Given the description of an element on the screen output the (x, y) to click on. 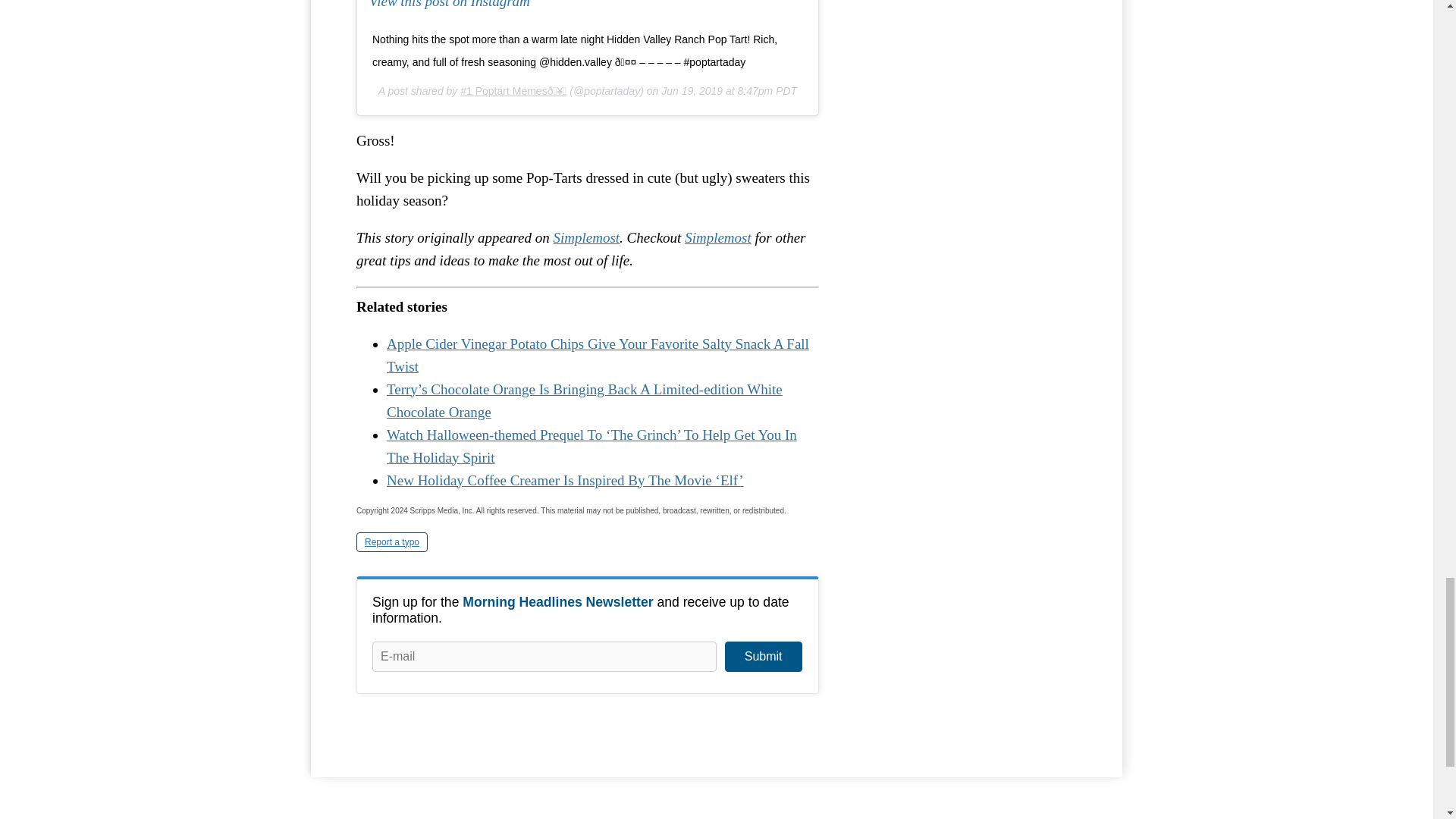
Submit (763, 656)
